Given the description of an element on the screen output the (x, y) to click on. 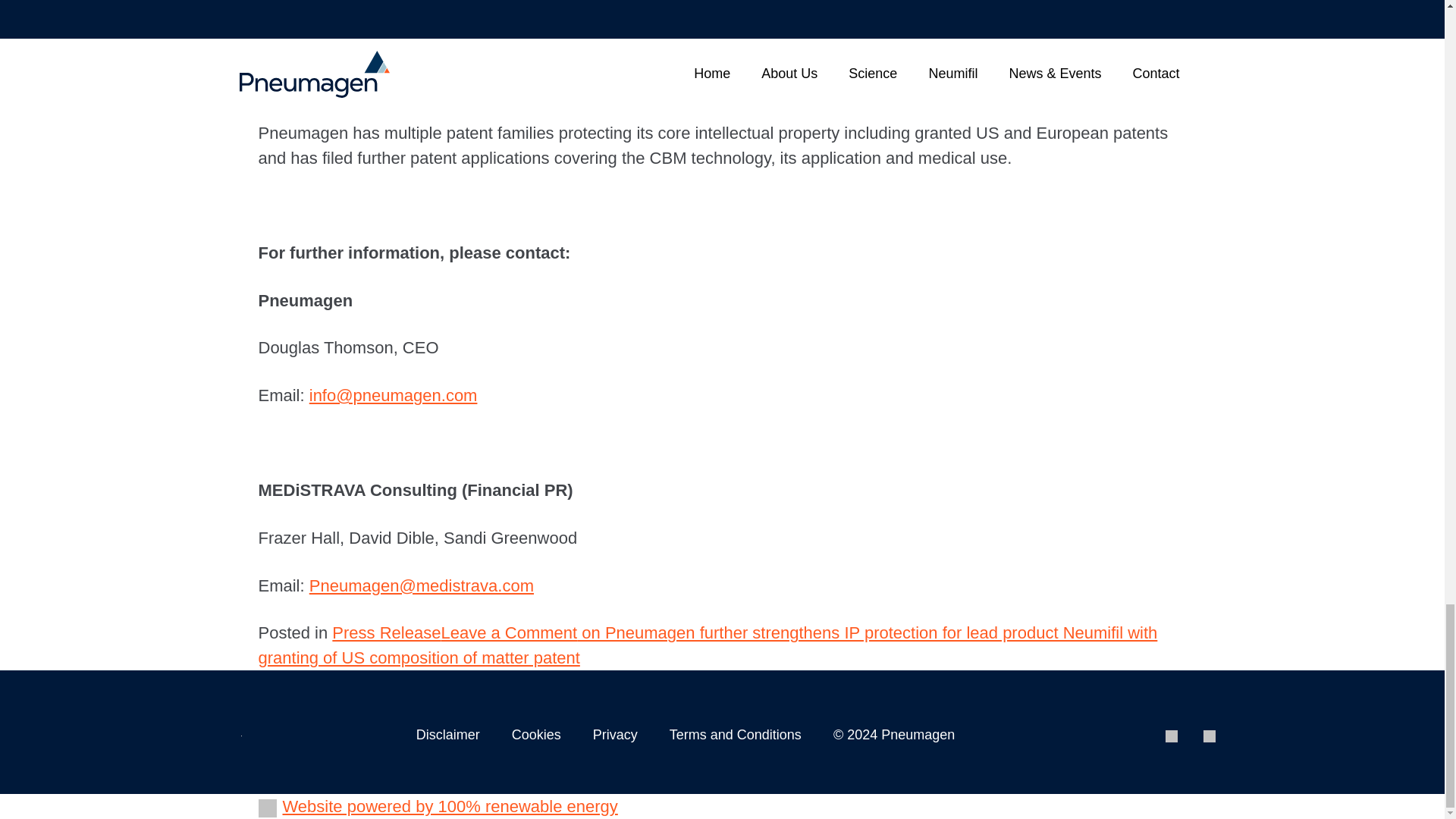
Privacy (614, 734)
Press Release (386, 632)
Disclaimer (448, 734)
Terms and Conditions (735, 734)
Cookies (536, 734)
